Given the description of an element on the screen output the (x, y) to click on. 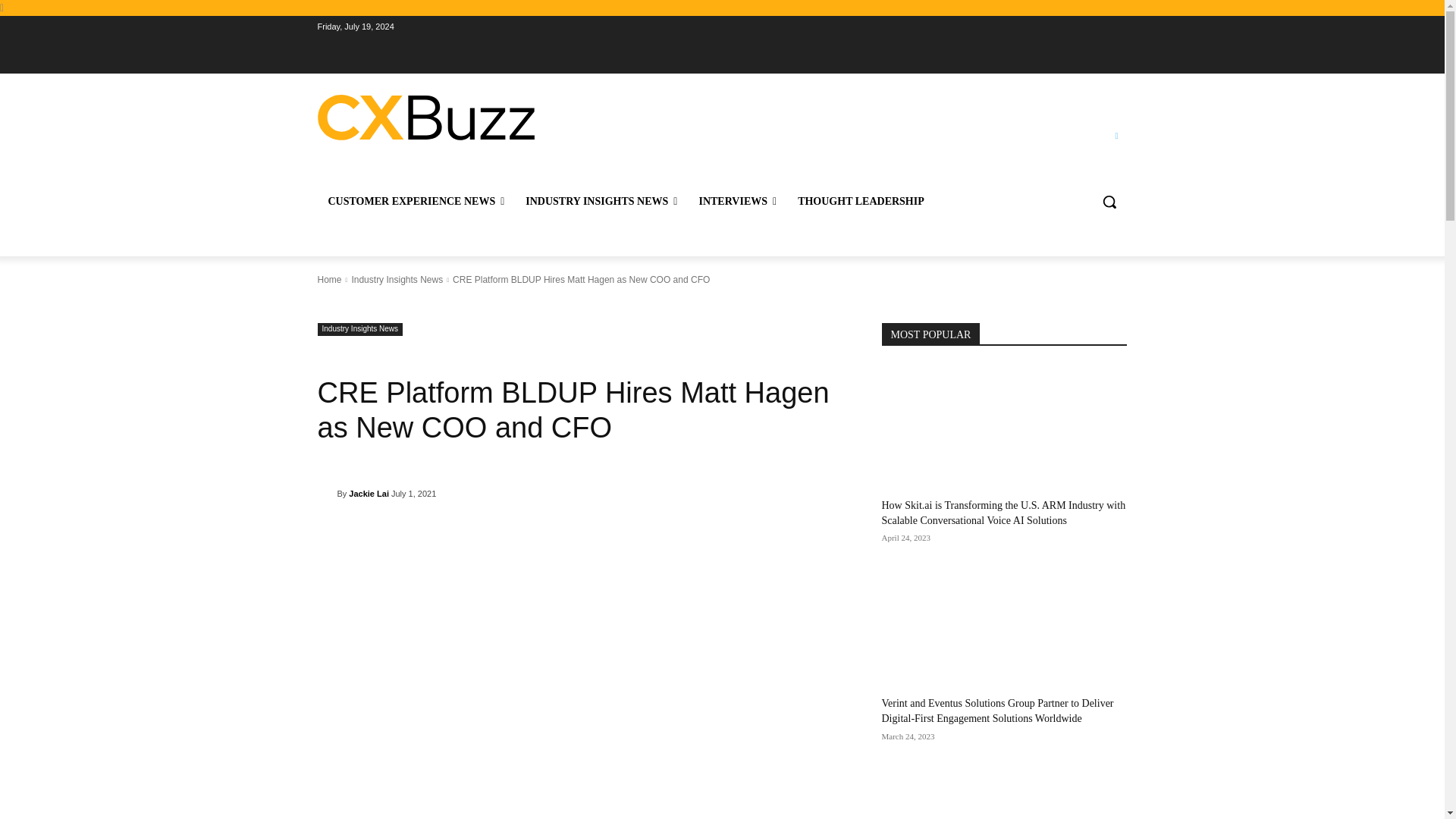
Linkedin (1115, 135)
INDUSTRY INSIGHTS NEWS (601, 201)
CUSTOMER EXPERIENCE NEWS (416, 201)
